Given the description of an element on the screen output the (x, y) to click on. 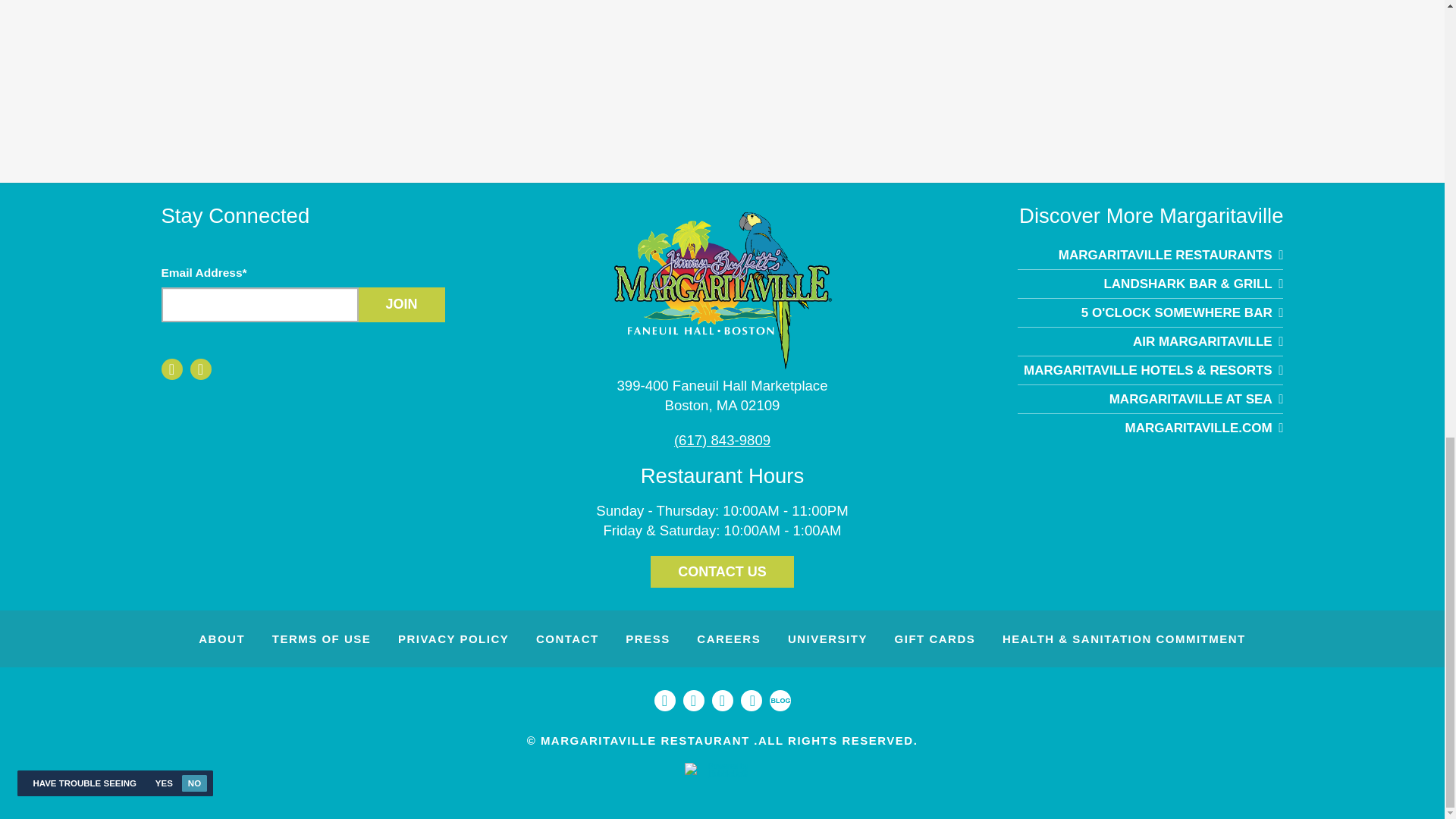
ABOUT (221, 638)
5 O'CLOCK SOMEWHERE BAR (1149, 312)
MARGARITAVILLE.COM (721, 395)
MARGARITAVILLE RESTAURANTS (1149, 428)
AIR MARGARITAVILLE (1149, 254)
MARGARITAVILLE AT SEA (1149, 341)
CONTACT US (1149, 398)
JOIN (721, 572)
